Given the description of an element on the screen output the (x, y) to click on. 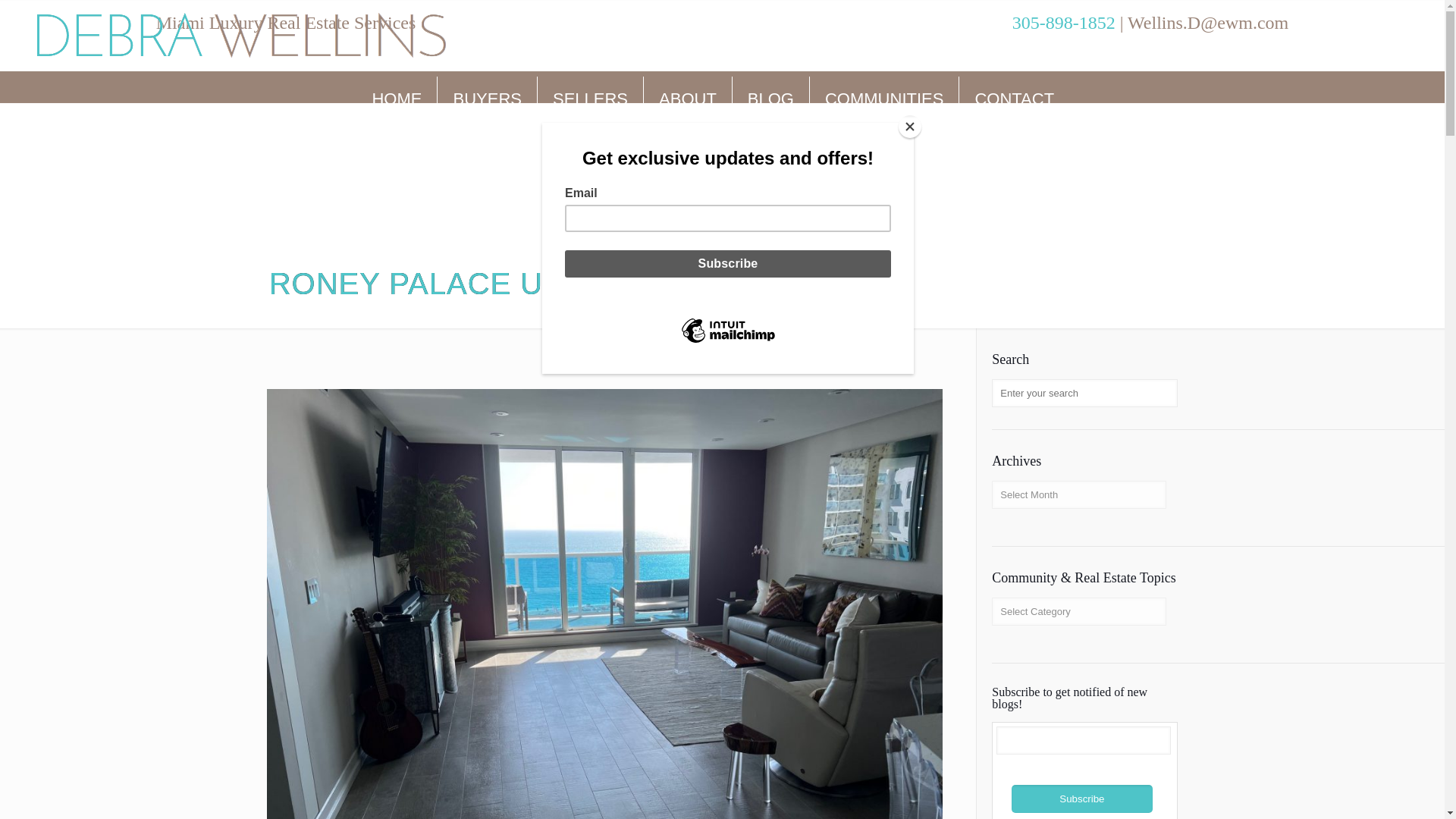
SELLERS (590, 99)
BLOG (770, 99)
ABOUT (687, 99)
Subscribe (1082, 798)
HOME (397, 99)
BUYERS (487, 99)
